Given the description of an element on the screen output the (x, y) to click on. 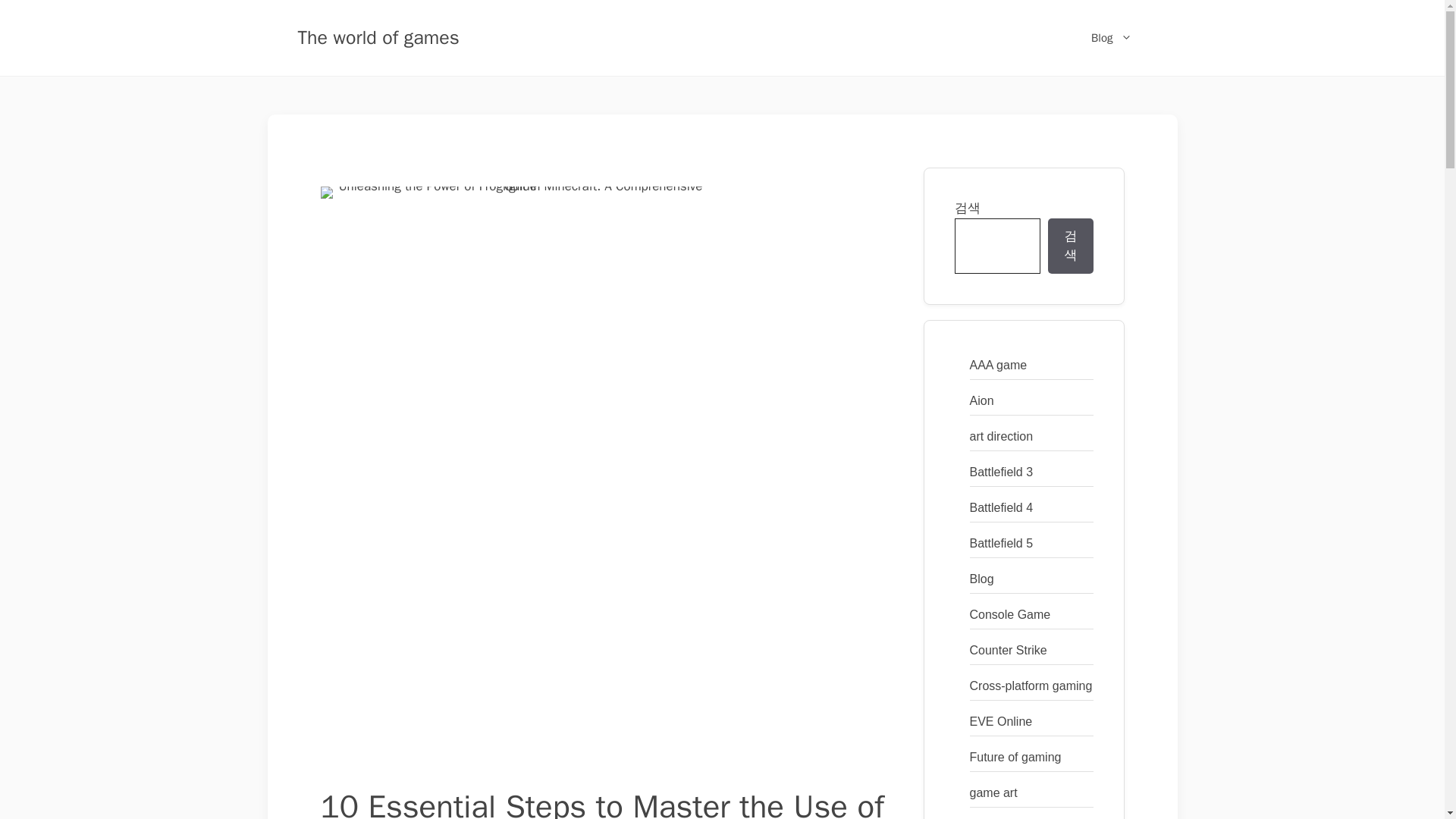
AAA game (997, 364)
Battlefield 4 (1000, 506)
Aion (980, 400)
The world of games (377, 37)
art direction (1000, 435)
Blog (1111, 37)
Battlefield 3 (1000, 472)
